Given the description of an element on the screen output the (x, y) to click on. 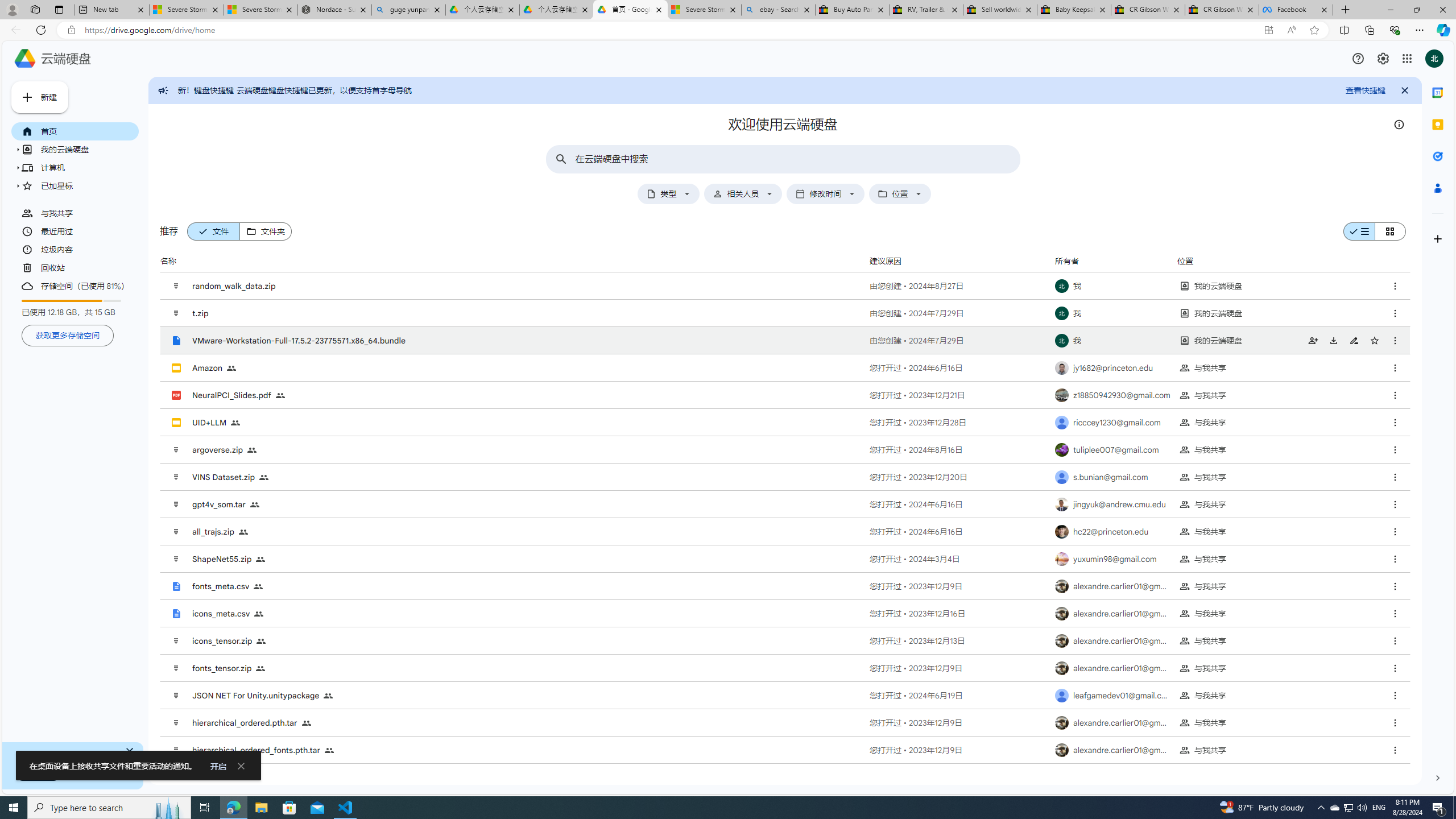
Class: gb_E (1406, 58)
